Given the description of an element on the screen output the (x, y) to click on. 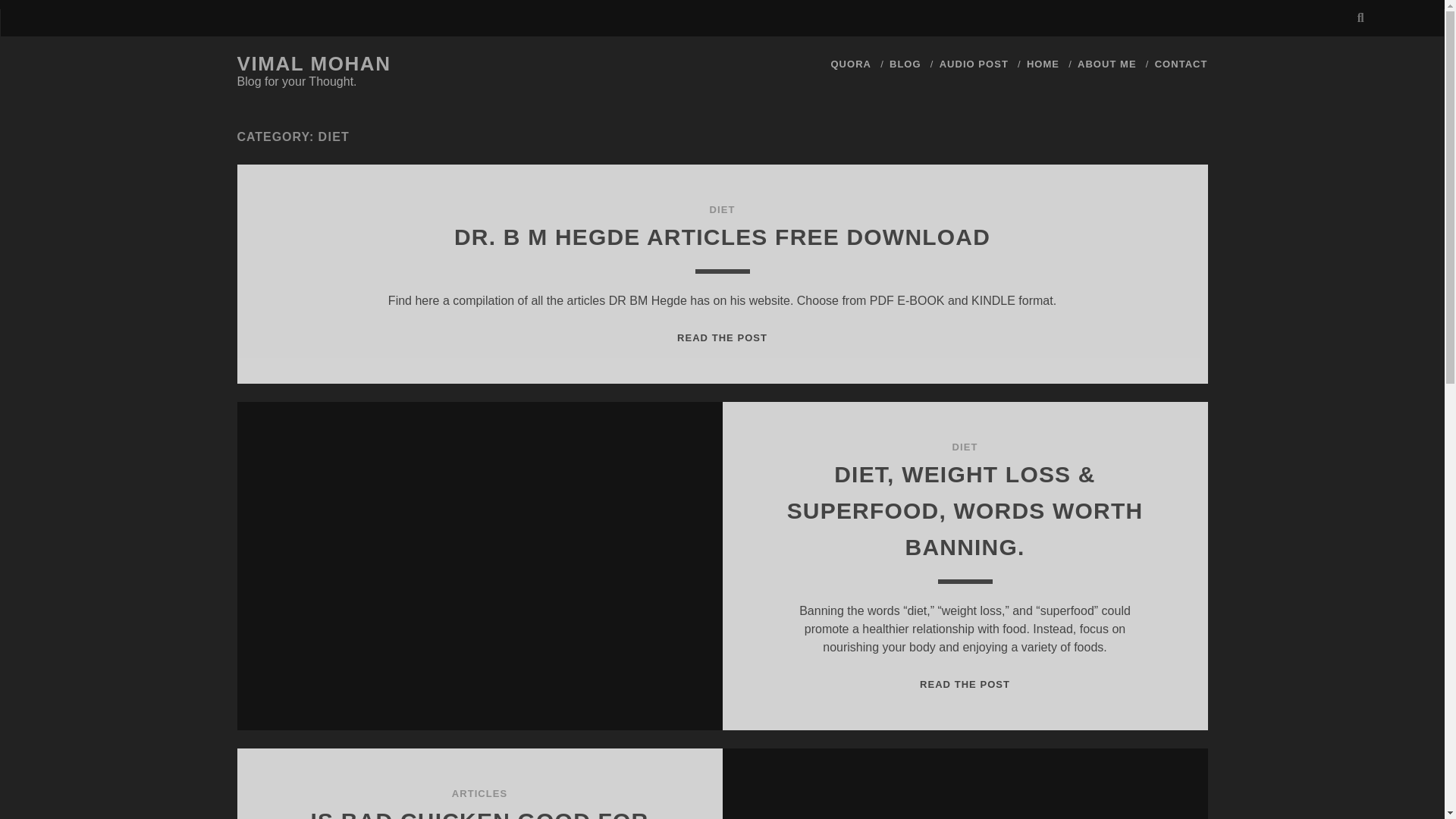
HOME (1042, 64)
DIET (965, 446)
CONTACT (1181, 64)
QUORA (849, 64)
IS BAD CHICKEN GOOD FOR HEALTH? (480, 813)
DIET (722, 209)
VIMAL MOHAN (312, 63)
BLOG (905, 64)
ARTICLES (478, 793)
AUDIO POST (974, 64)
